Given the description of an element on the screen output the (x, y) to click on. 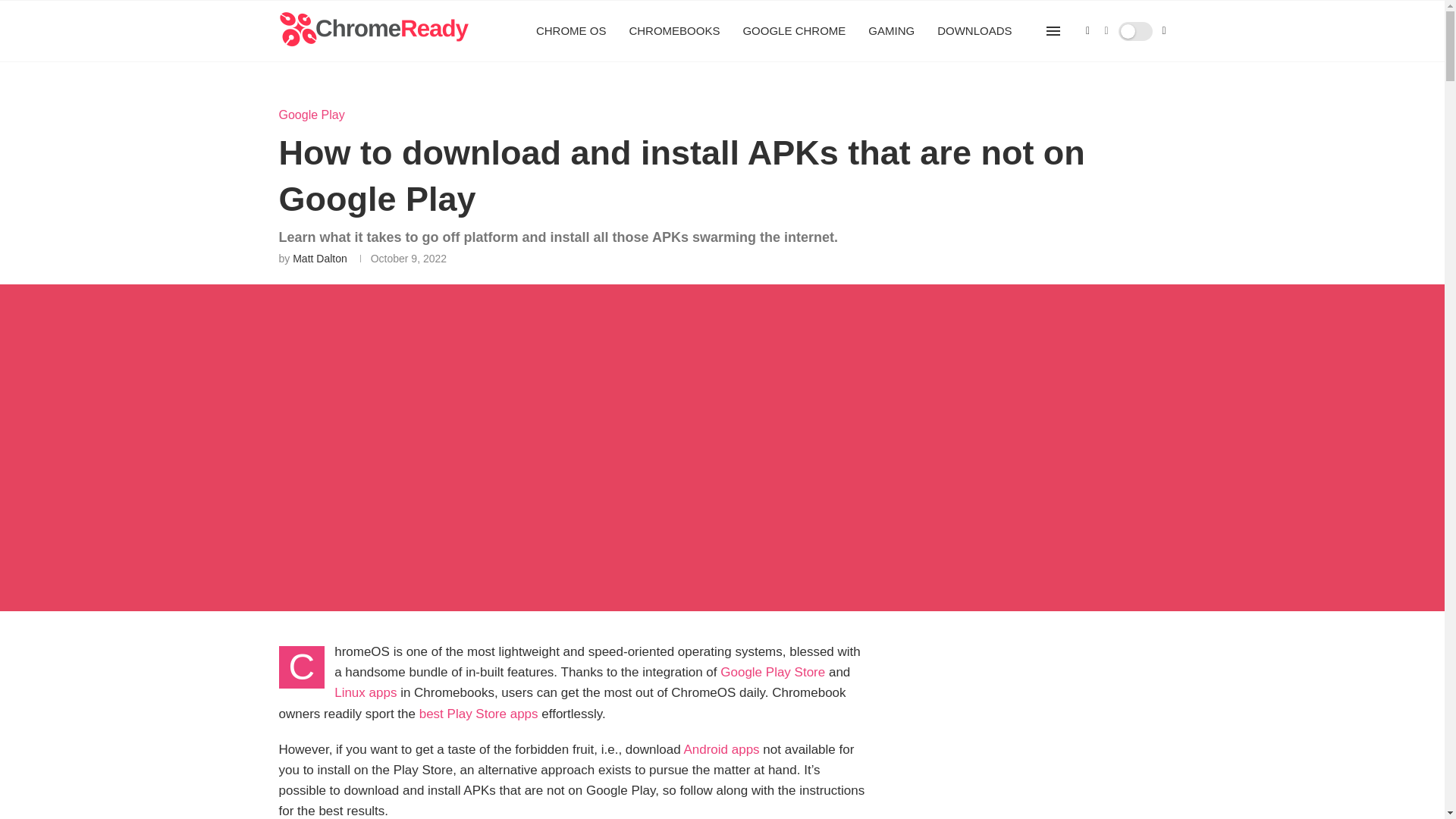
Linux apps (365, 692)
Google Play Store (772, 672)
Android apps (720, 749)
Google Play (312, 114)
CHROMEBOOKS (673, 30)
best Play Store apps (478, 713)
CHROME OS (571, 30)
DOWNLOADS (974, 30)
GOOGLE CHROME (793, 30)
Matt Dalton (319, 258)
